Given the description of an element on the screen output the (x, y) to click on. 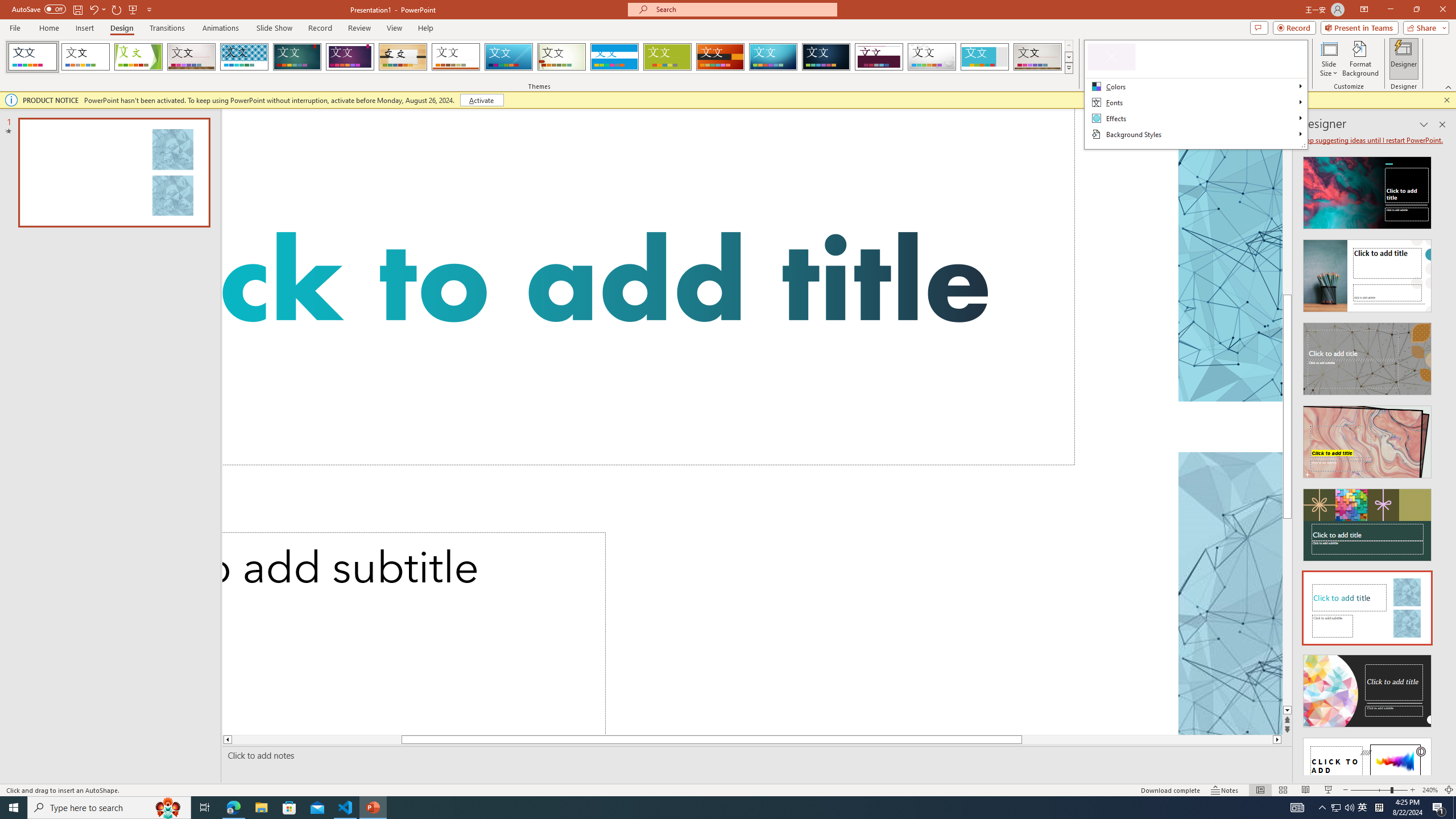
Wisp (561, 56)
Office Theme (85, 56)
